Given the description of an element on the screen output the (x, y) to click on. 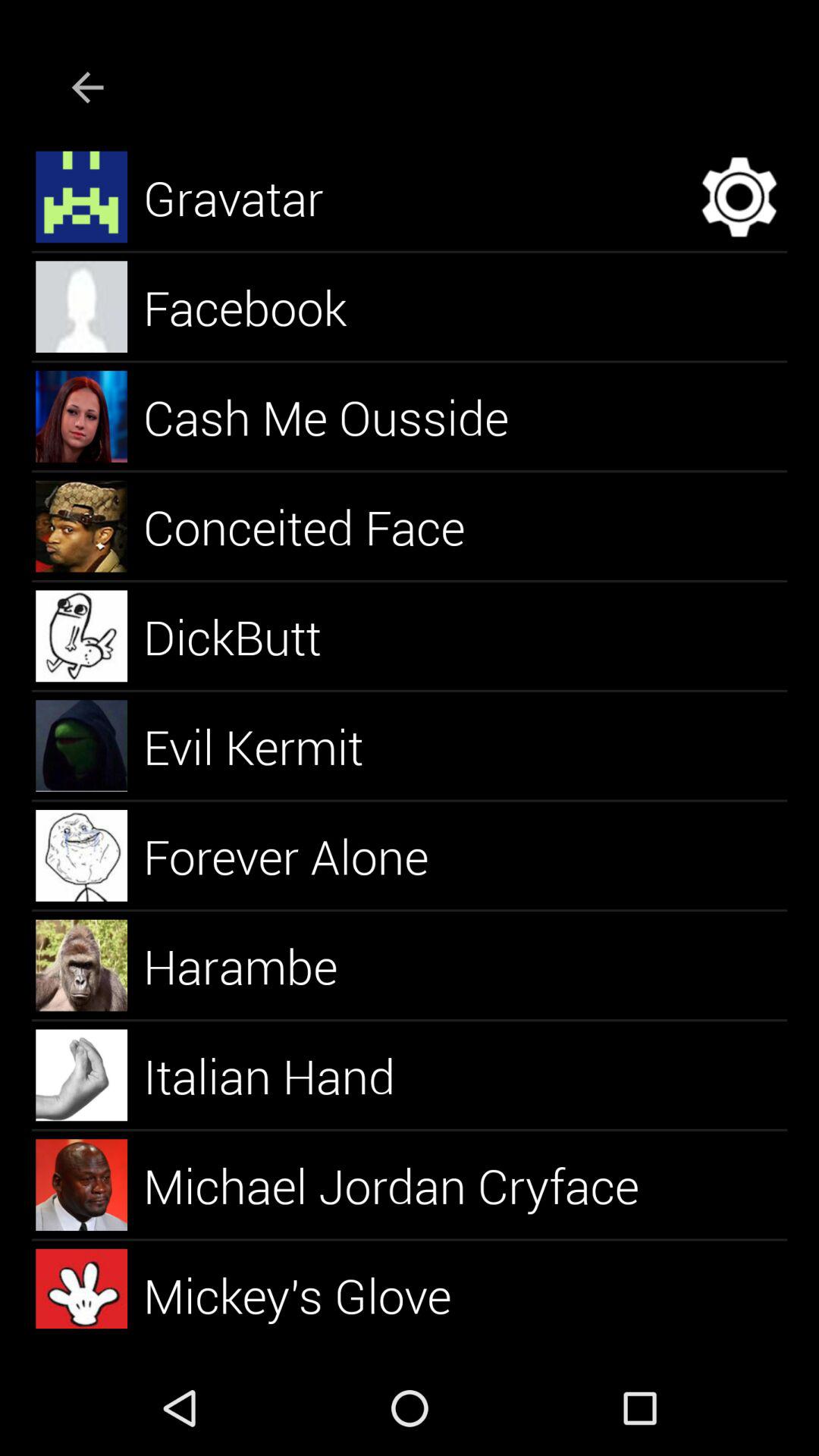
scroll until cash me ousside (343, 416)
